Given the description of an element on the screen output the (x, y) to click on. 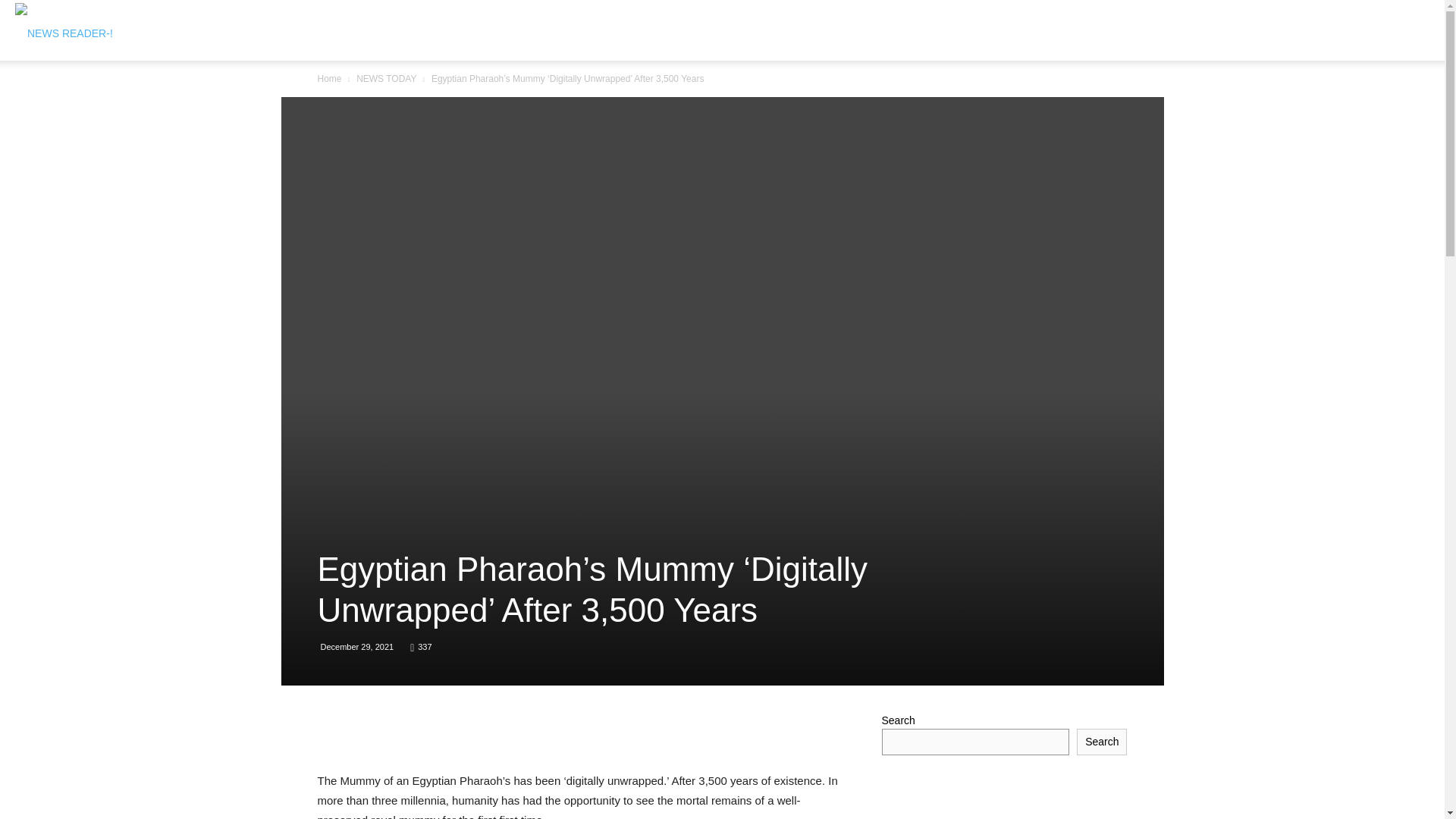
View all posts in NEWS TODAY (386, 78)
MOVIES REVIEW (896, 30)
BEAUTY (728, 30)
CELEBRITY (800, 30)
Search (1395, 102)
SHOPPING (987, 30)
NEWS READER-1 (63, 30)
SPORTS (594, 30)
Home (328, 78)
NEWS TODAY (516, 30)
